Given the description of an element on the screen output the (x, y) to click on. 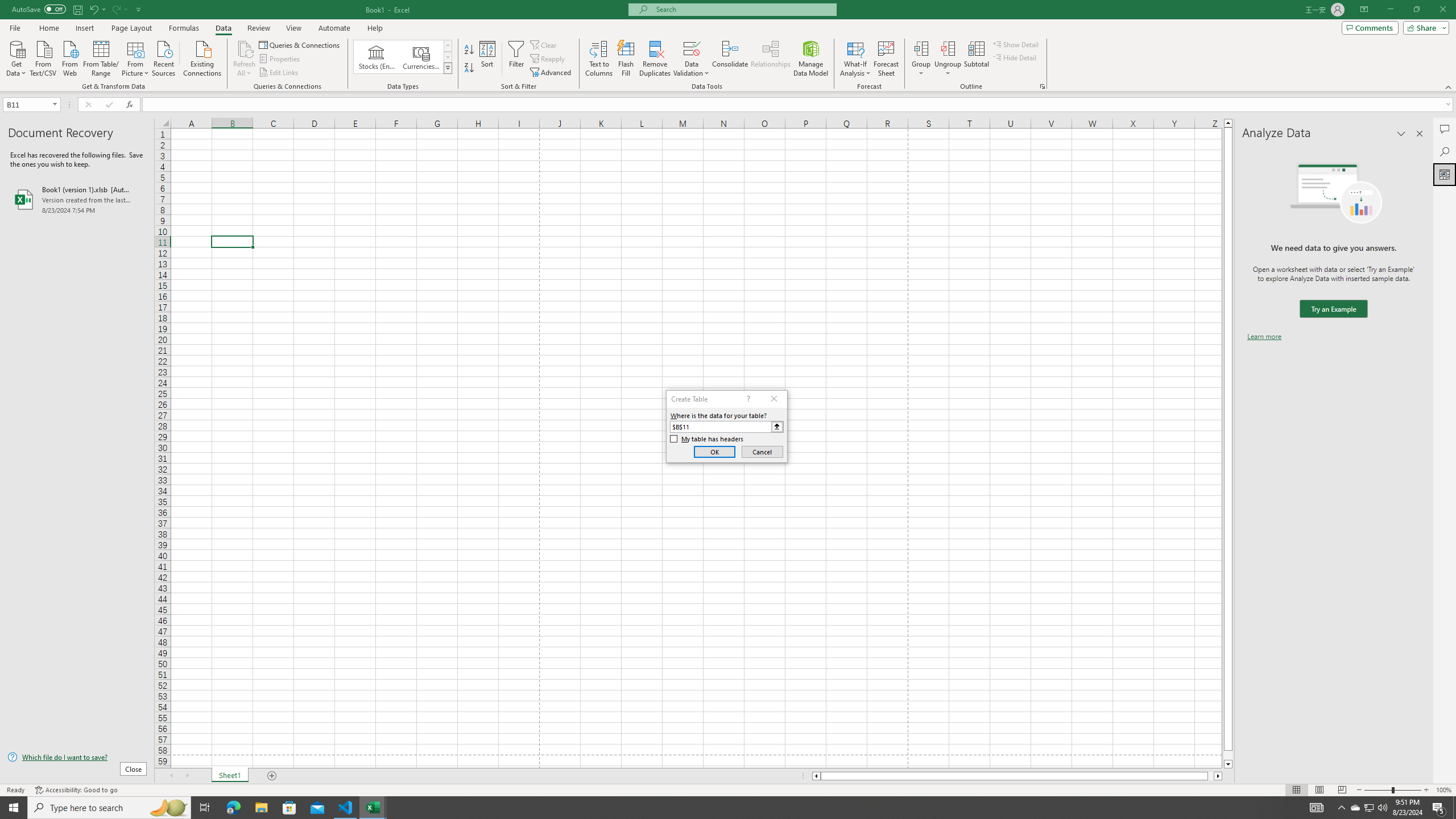
Group and Outline Settings (1042, 85)
Customize Quick Access Toolbar (139, 9)
Name Box (30, 104)
Open (54, 104)
From Table/Range (100, 57)
We need data to give you answers. Try an Example (1333, 308)
Clear (544, 44)
Text to Columns... (598, 58)
Learn more (1264, 336)
Group... (921, 58)
Class: NetUIImage (447, 68)
Show Detail (1016, 44)
Remove Duplicates (654, 58)
Manage Data Model (810, 58)
